Given the description of an element on the screen output the (x, y) to click on. 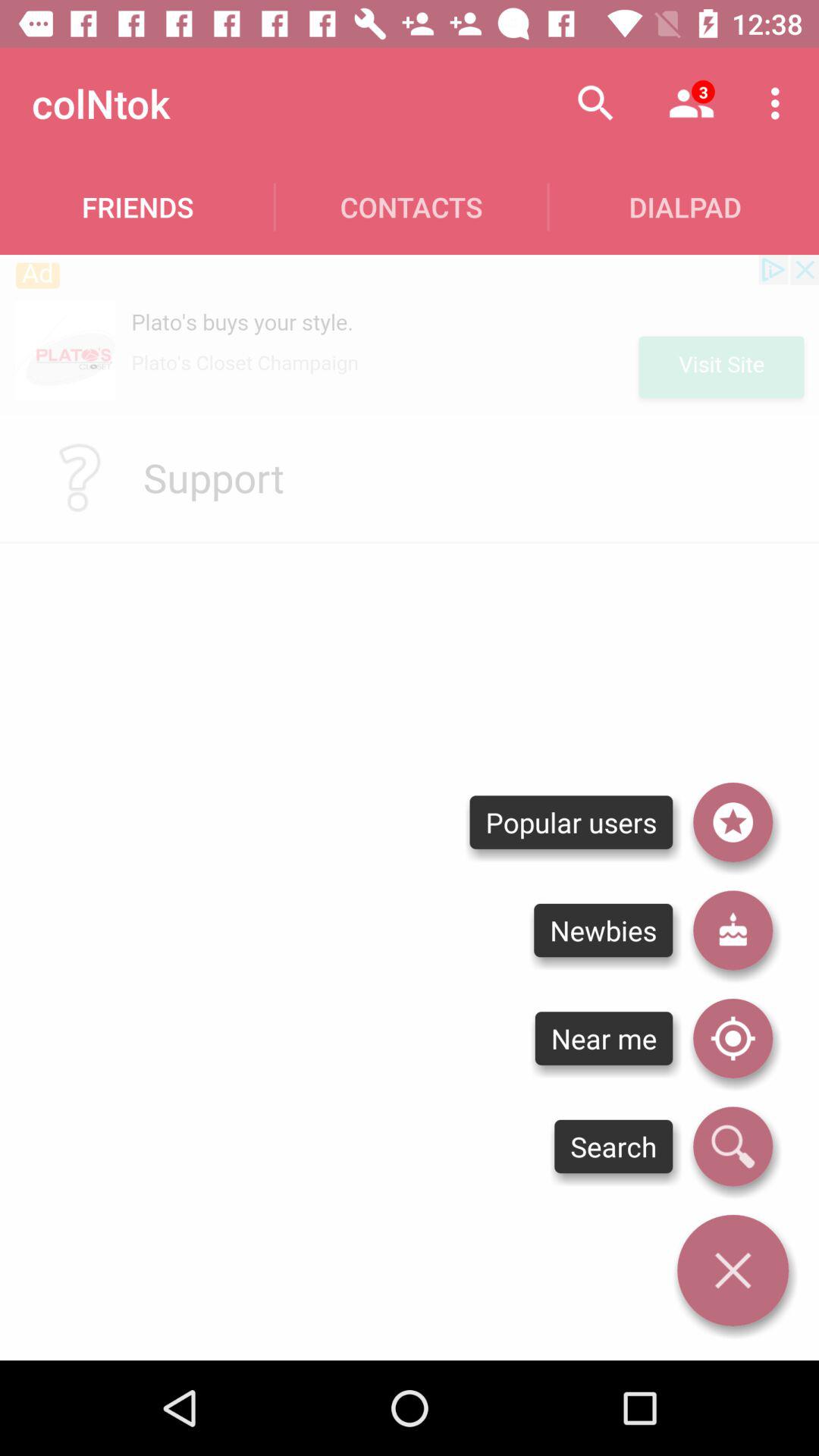
an inviting to visit a site (409, 334)
